Given the description of an element on the screen output the (x, y) to click on. 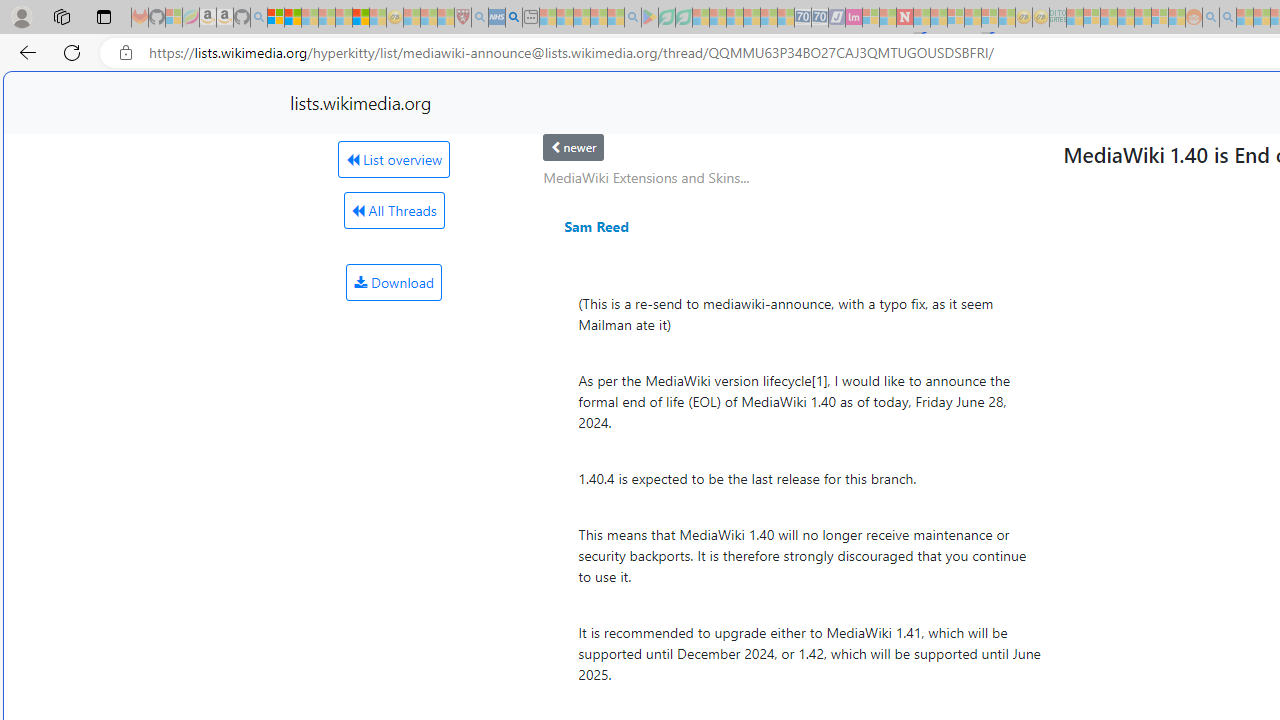
lists.wikimedia.org (360, 102)
